Given the description of an element on the screen output the (x, y) to click on. 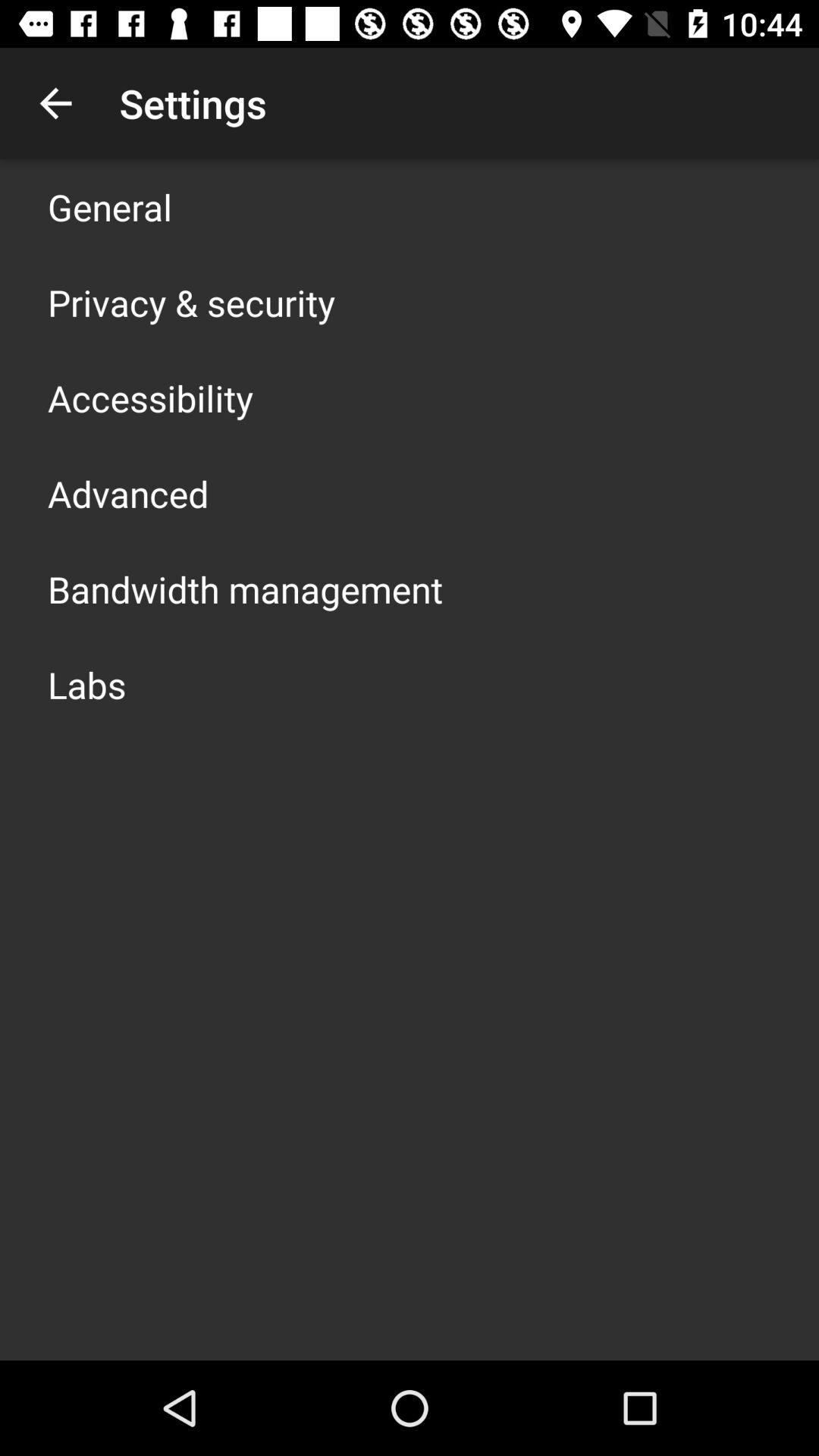
press advanced icon (127, 493)
